Given the description of an element on the screen output the (x, y) to click on. 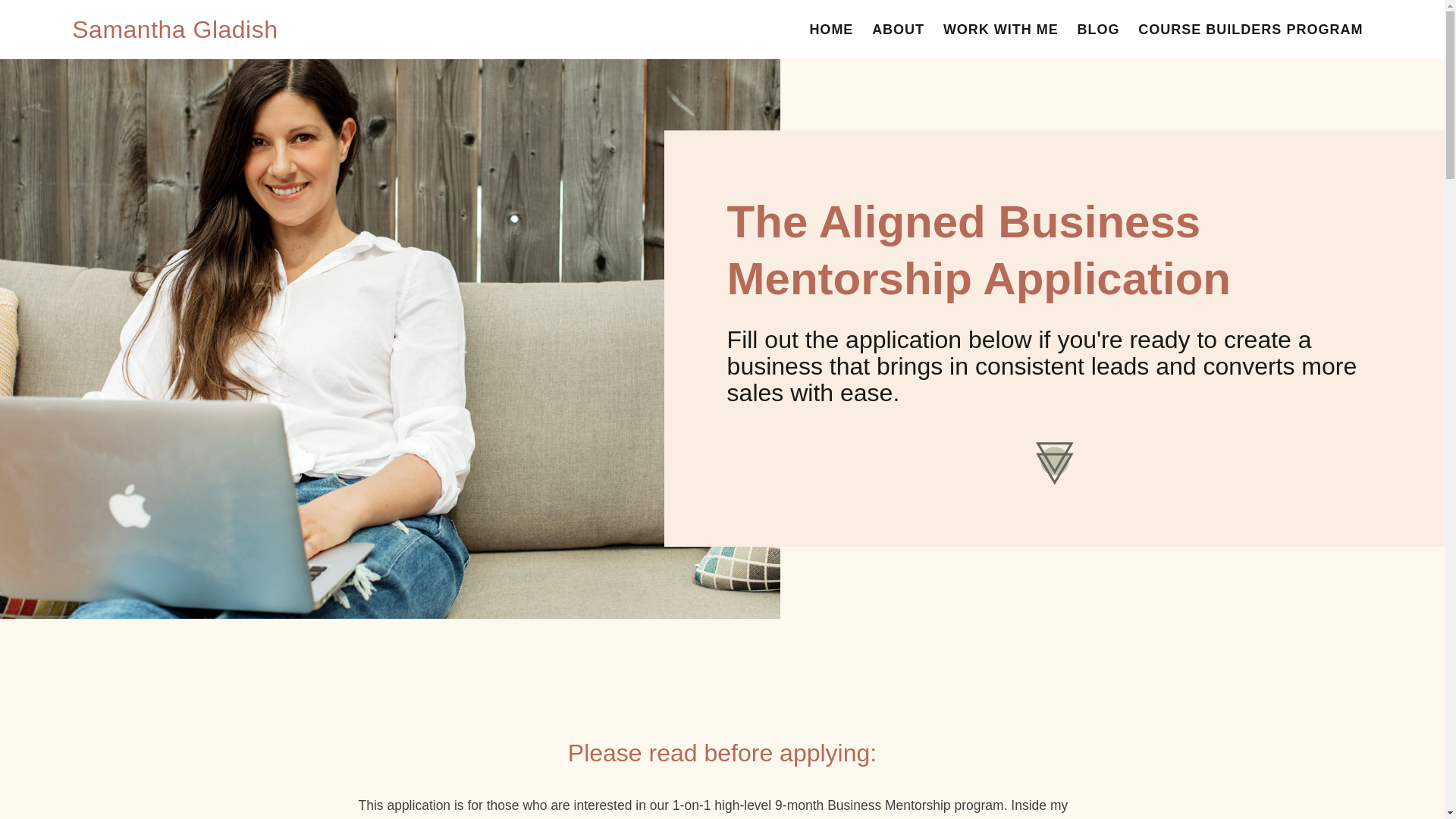
down-icon (1054, 463)
Samantha Gladish (174, 29)
ABOUT (898, 29)
WORK WITH ME (1000, 29)
HOME (831, 29)
BLOG (1098, 29)
COURSE BUILDERS PROGRAM (1250, 29)
